Given the description of an element on the screen output the (x, y) to click on. 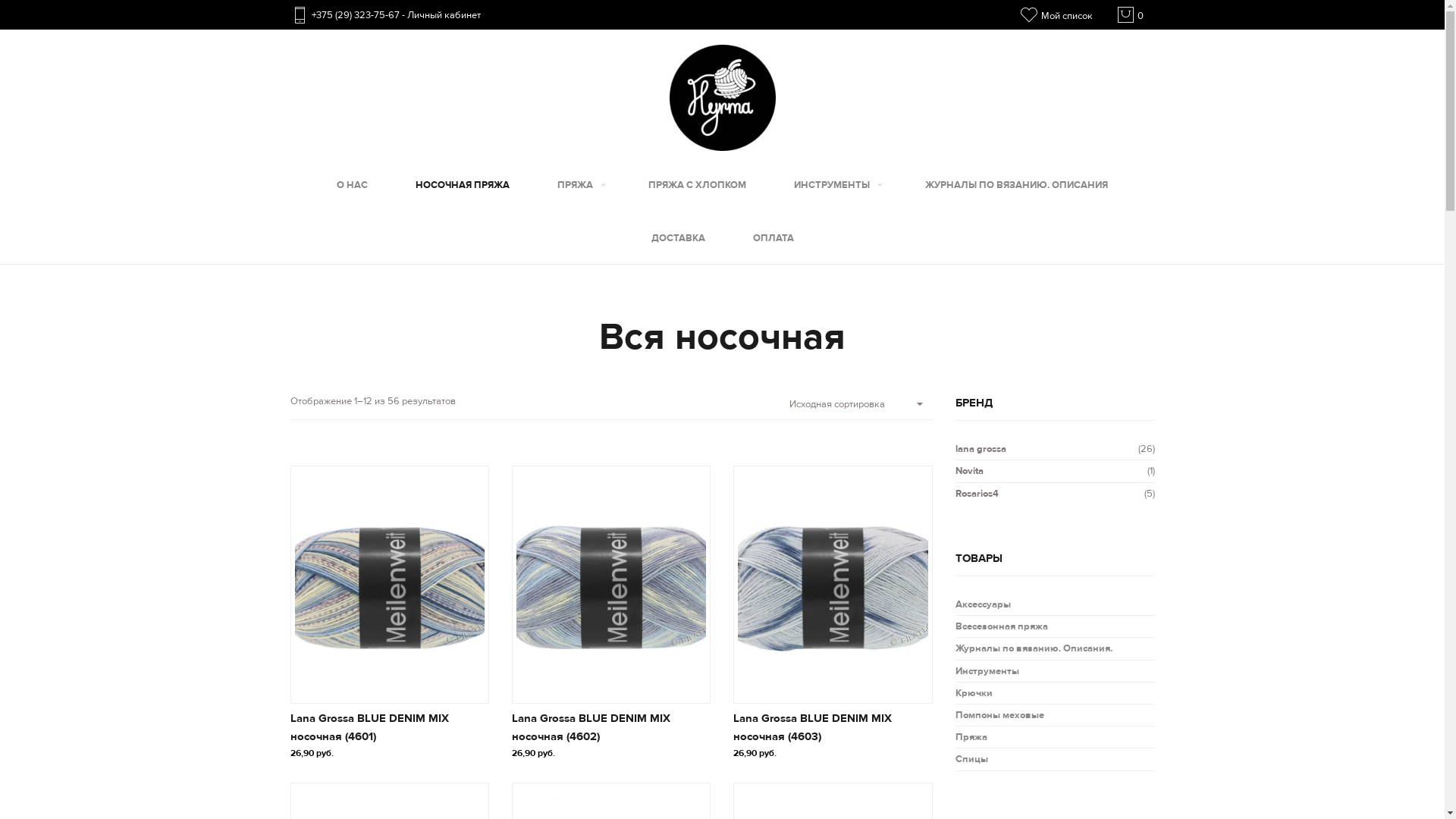
lana grossa Element type: text (980, 448)
Novita Element type: text (969, 470)
0 Element type: text (1129, 14)
Rosarios4 Element type: text (976, 493)
